Given the description of an element on the screen output the (x, y) to click on. 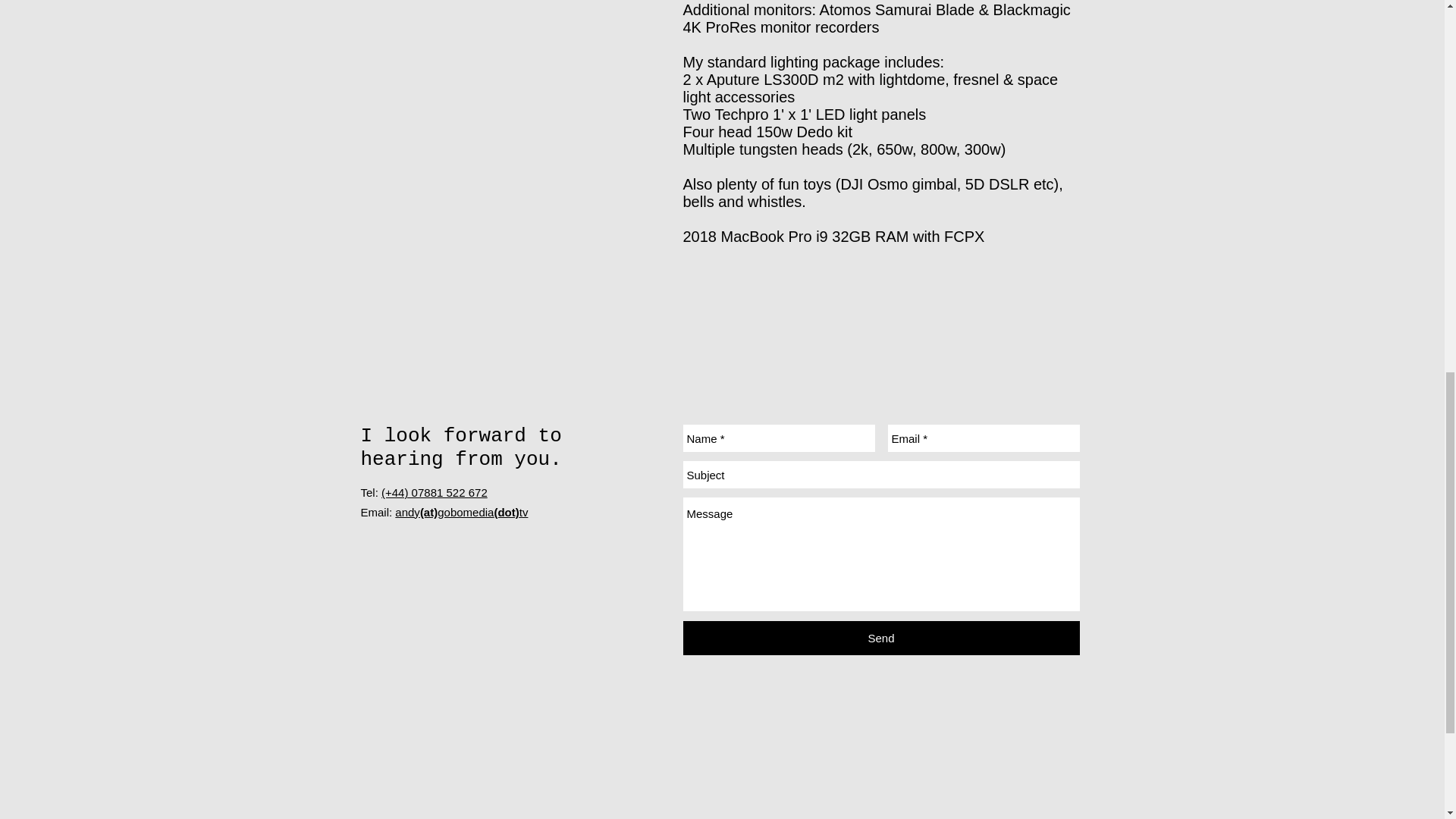
Send (880, 637)
